Given the description of an element on the screen output the (x, y) to click on. 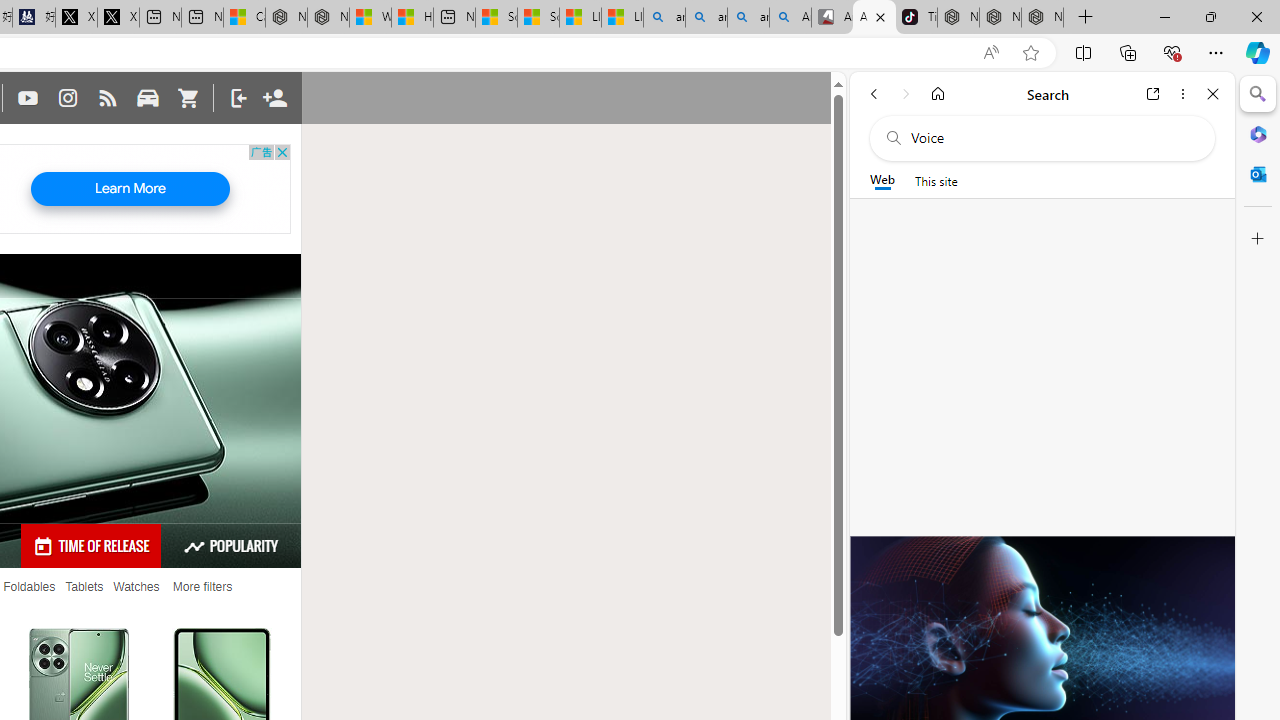
Amazon Echo Robot - Search Images (790, 17)
Nordace - Best Sellers (958, 17)
Huge shark washes ashore at New York City beach | Watch (411, 17)
Outlook (1258, 174)
amazon - Search Images (748, 17)
This site scope (936, 180)
